Given the description of an element on the screen output the (x, y) to click on. 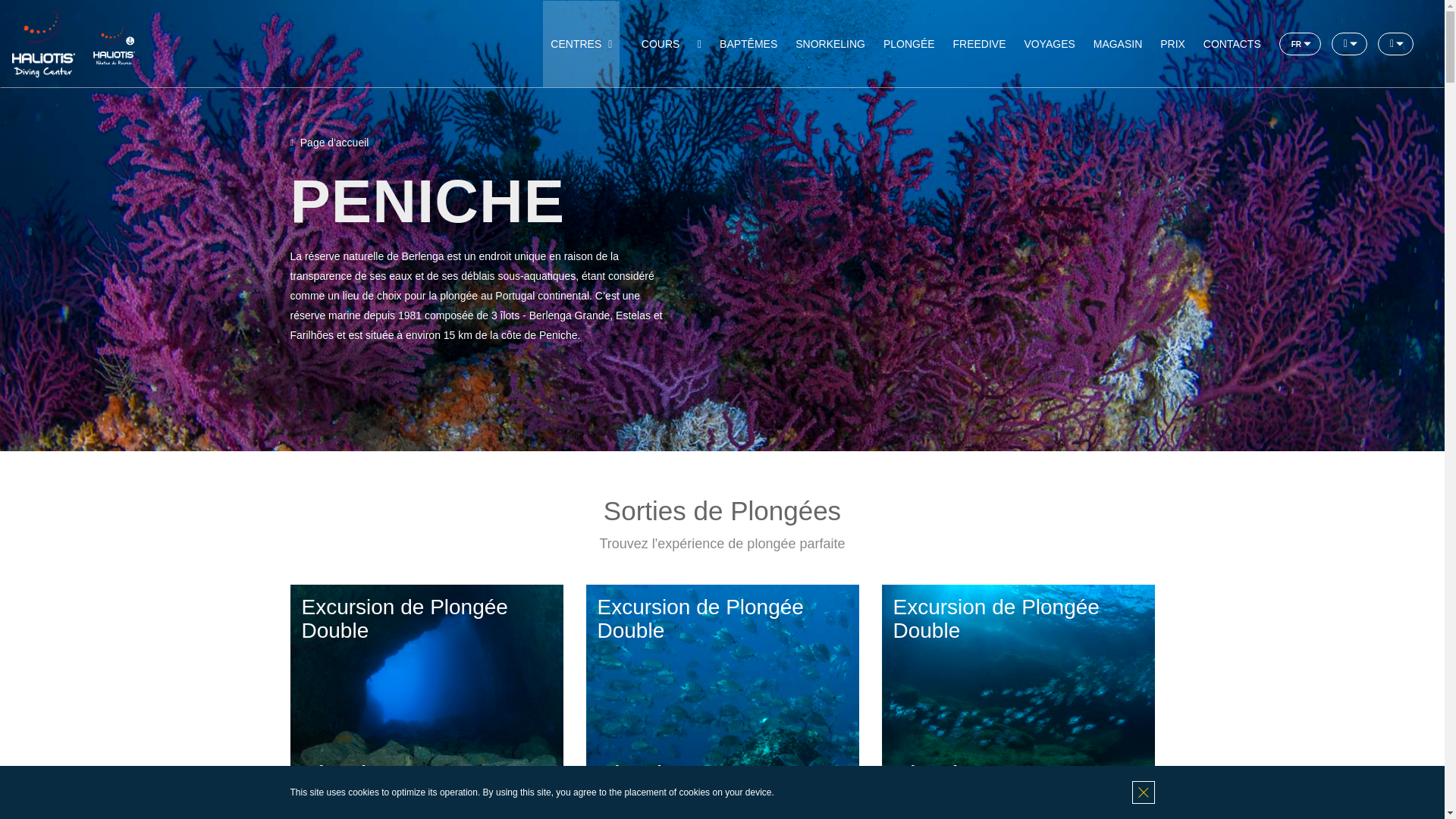
Go to Snorkeling (829, 43)
Plus d'info (347, 813)
SNORKELING (829, 43)
Haliotis Diving Center (44, 42)
COURS (660, 43)
Haliotis Diving Center (43, 42)
Page d'accueil (328, 142)
fr (1299, 43)
